Given the description of an element on the screen output the (x, y) to click on. 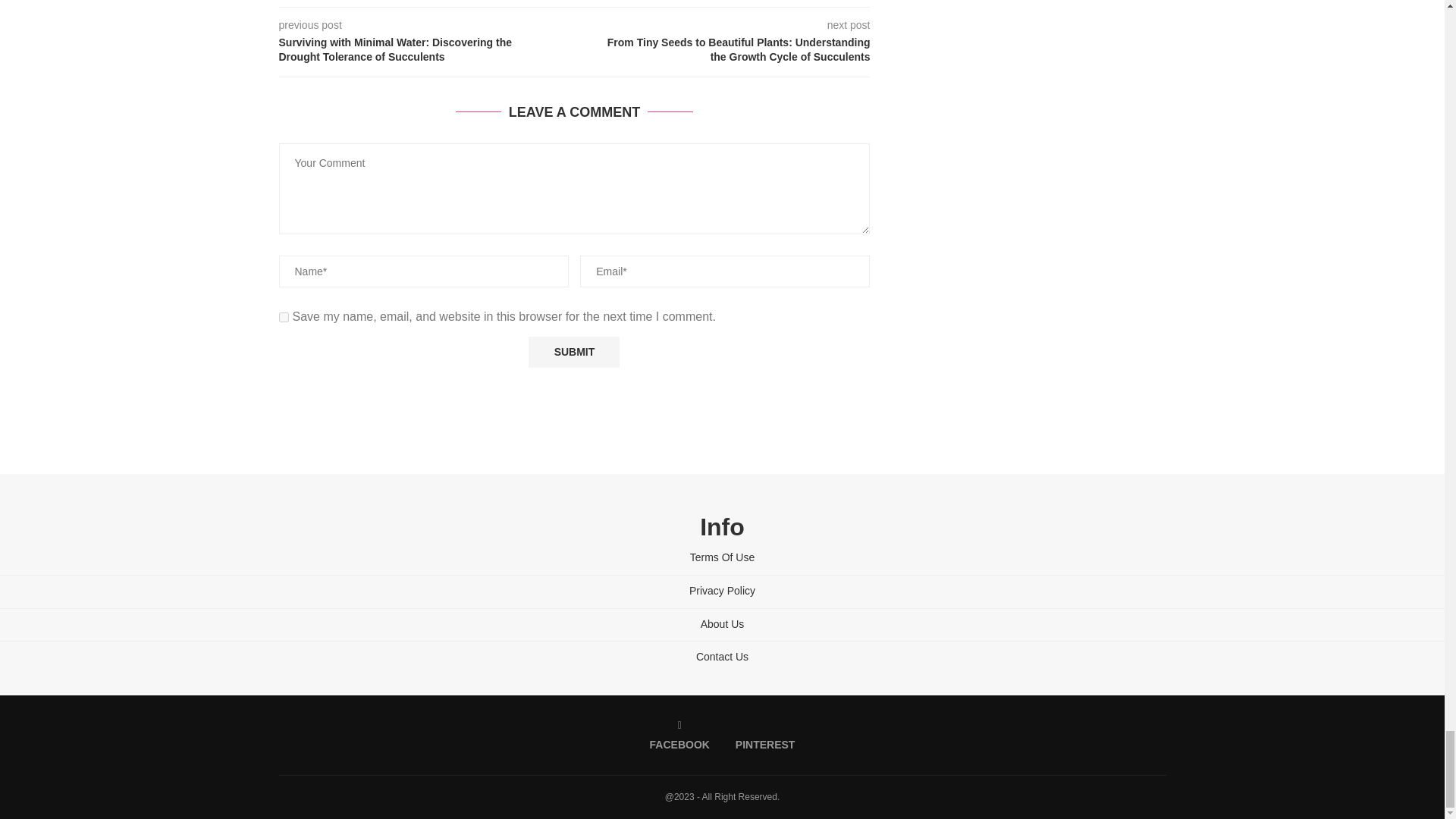
yes (283, 317)
Submit (574, 351)
